Given the description of an element on the screen output the (x, y) to click on. 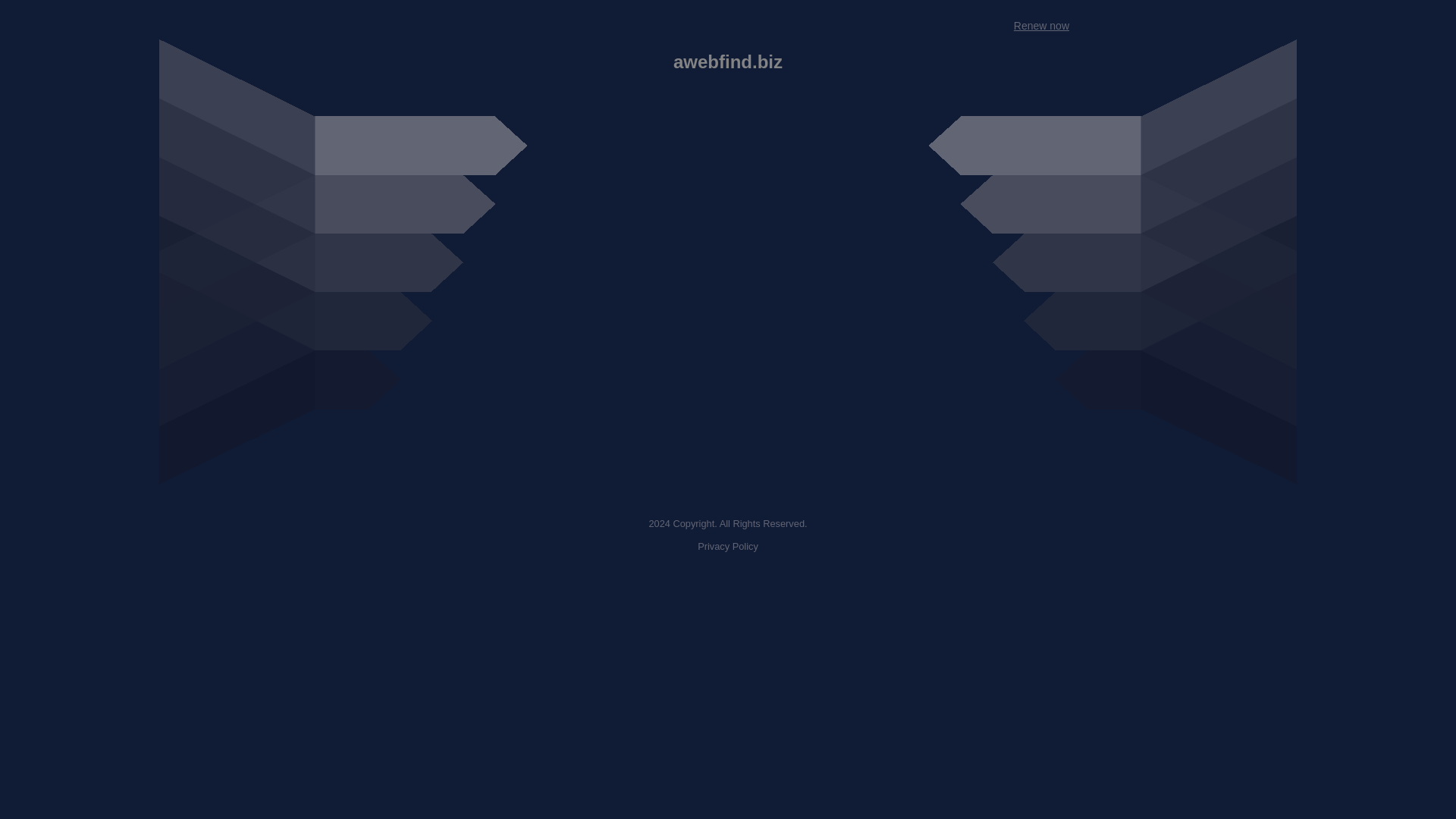
Renew now (1040, 25)
Privacy Policy (727, 546)
